Given the description of an element on the screen output the (x, y) to click on. 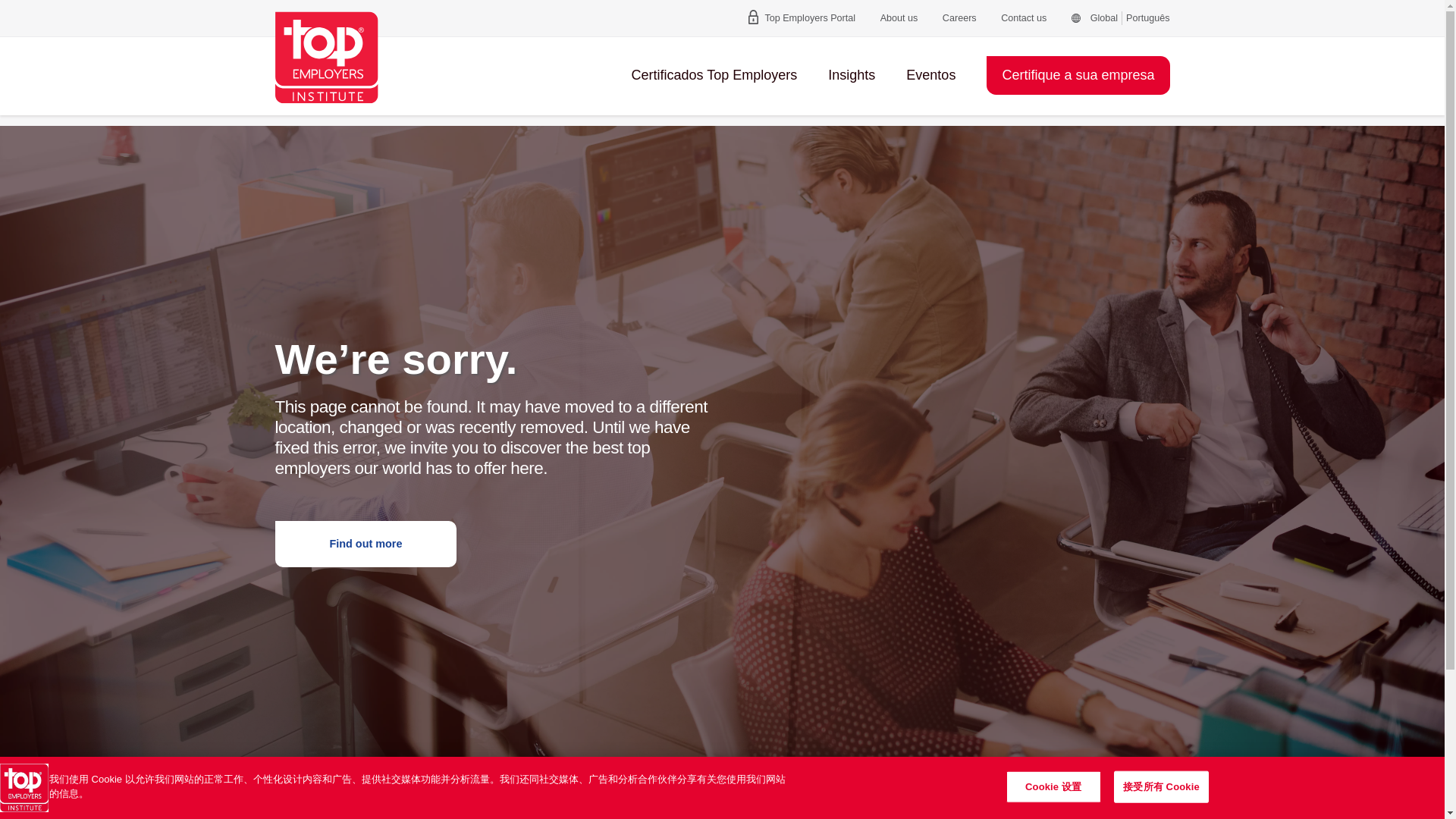
Eventos (930, 74)
Insights (851, 74)
Top Employers Portal (802, 18)
Global (1093, 18)
About us (899, 18)
Careers (959, 18)
Certificados Top Employers (714, 74)
Find out more (366, 544)
Certifique a sua empresa (1078, 75)
Contact us (1023, 18)
